Given the description of an element on the screen output the (x, y) to click on. 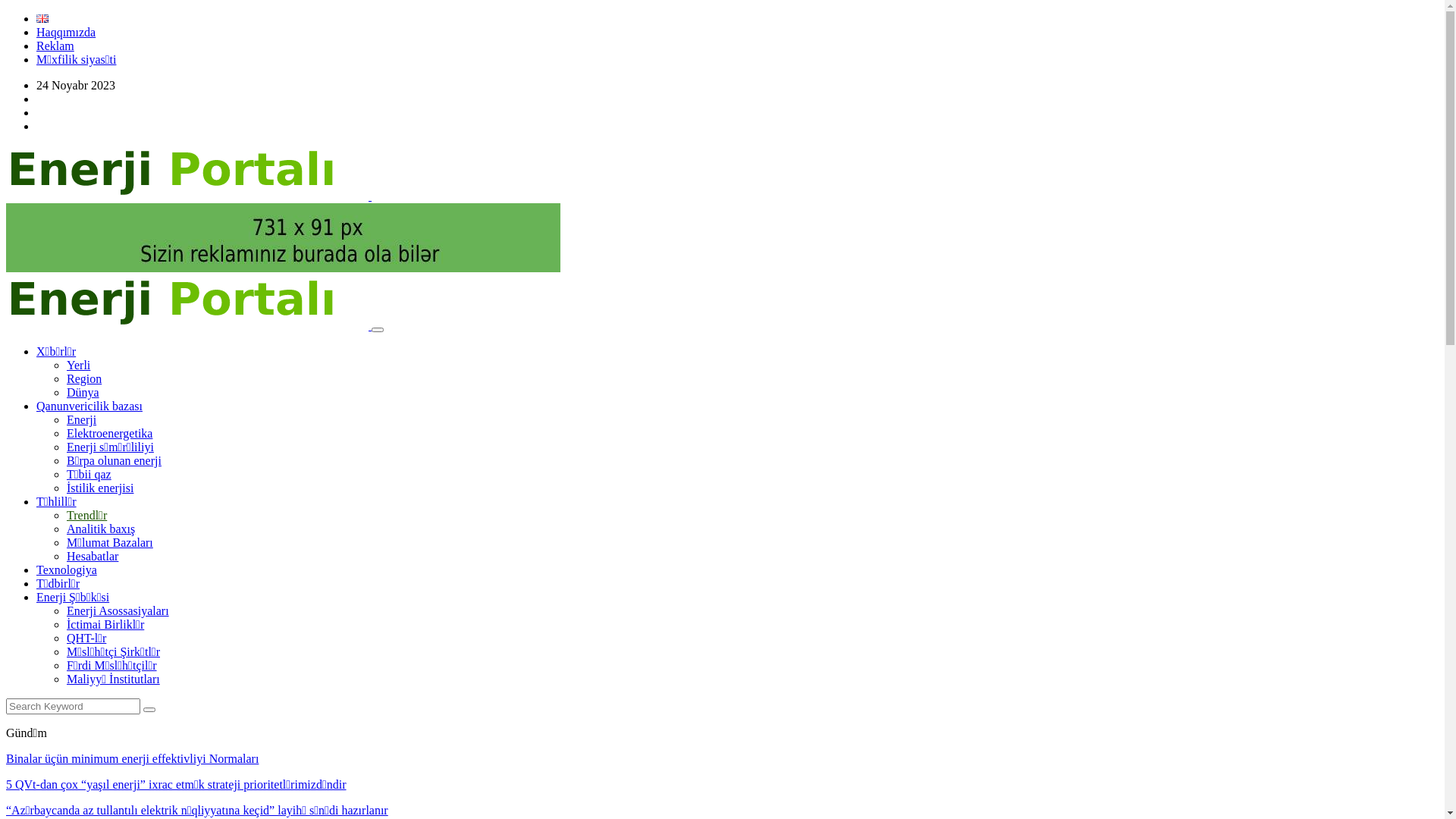
Reklam Element type: text (55, 45)
Region Element type: text (83, 378)
Yerli Element type: text (78, 364)
Hesabatlar Element type: text (92, 555)
Enerji Element type: text (81, 419)
Elektroenergetika Element type: text (109, 432)
Texnologiya Element type: text (66, 569)
